Given the description of an element on the screen output the (x, y) to click on. 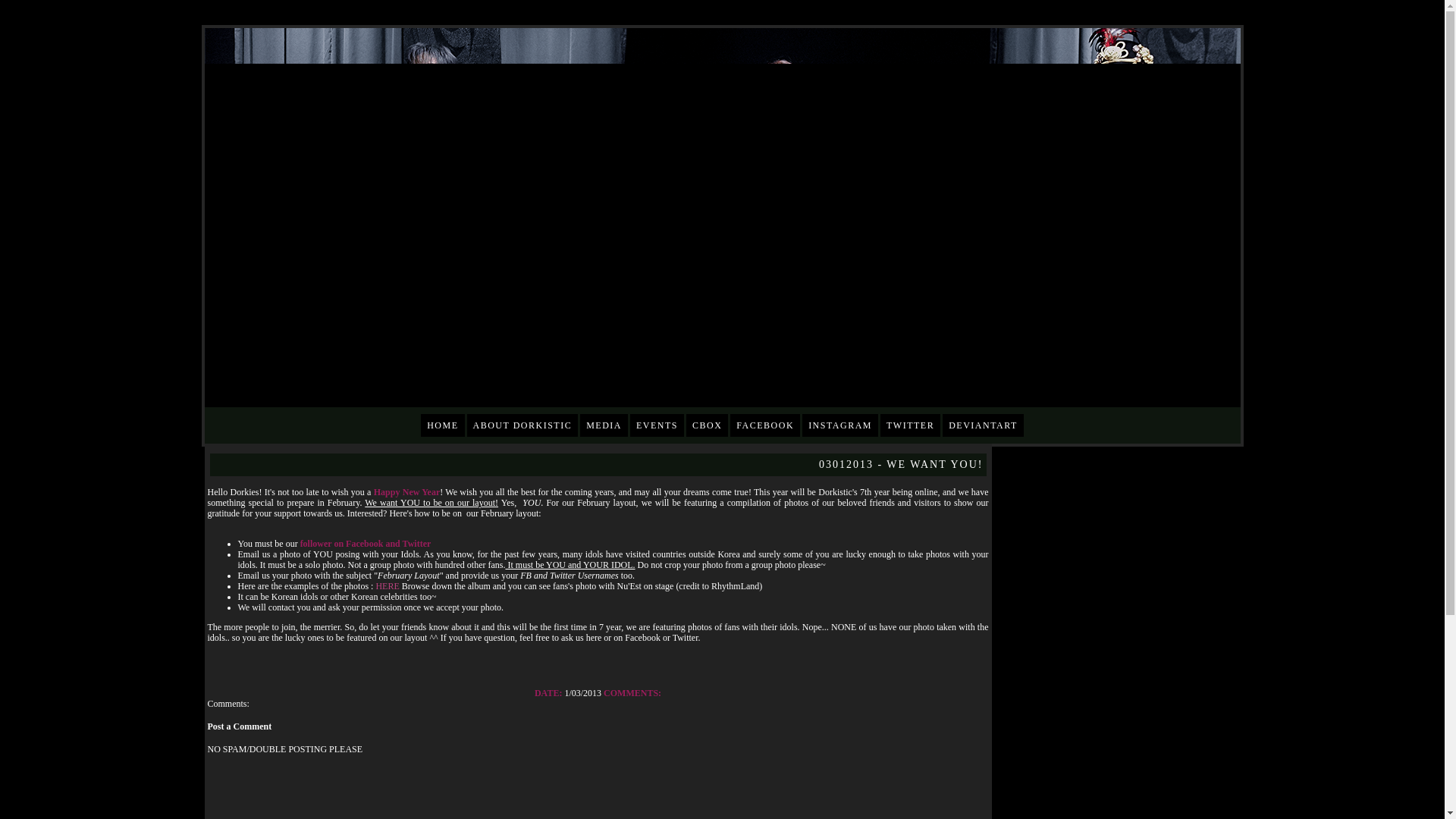
MEDIA (603, 425)
CBOX (706, 425)
FACEBOOK (764, 425)
HERE (386, 585)
EVENTS (657, 425)
HOME (442, 425)
INSTAGRAM (839, 425)
DEVIANTART (982, 425)
ABOUT DORKISTIC (522, 425)
TWITTER (910, 425)
